Given the description of an element on the screen output the (x, y) to click on. 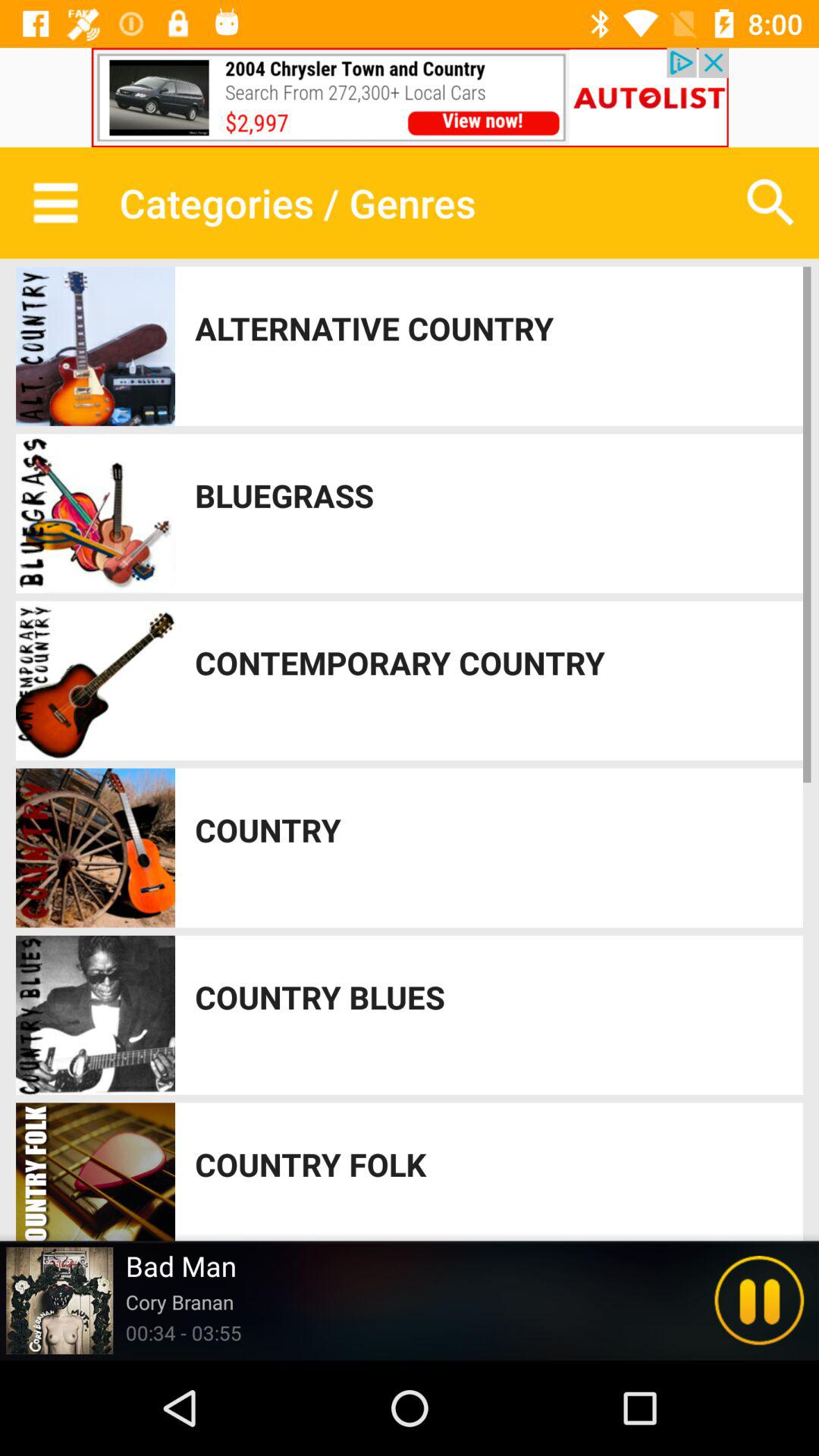
click advertisement (409, 97)
